Given the description of an element on the screen output the (x, y) to click on. 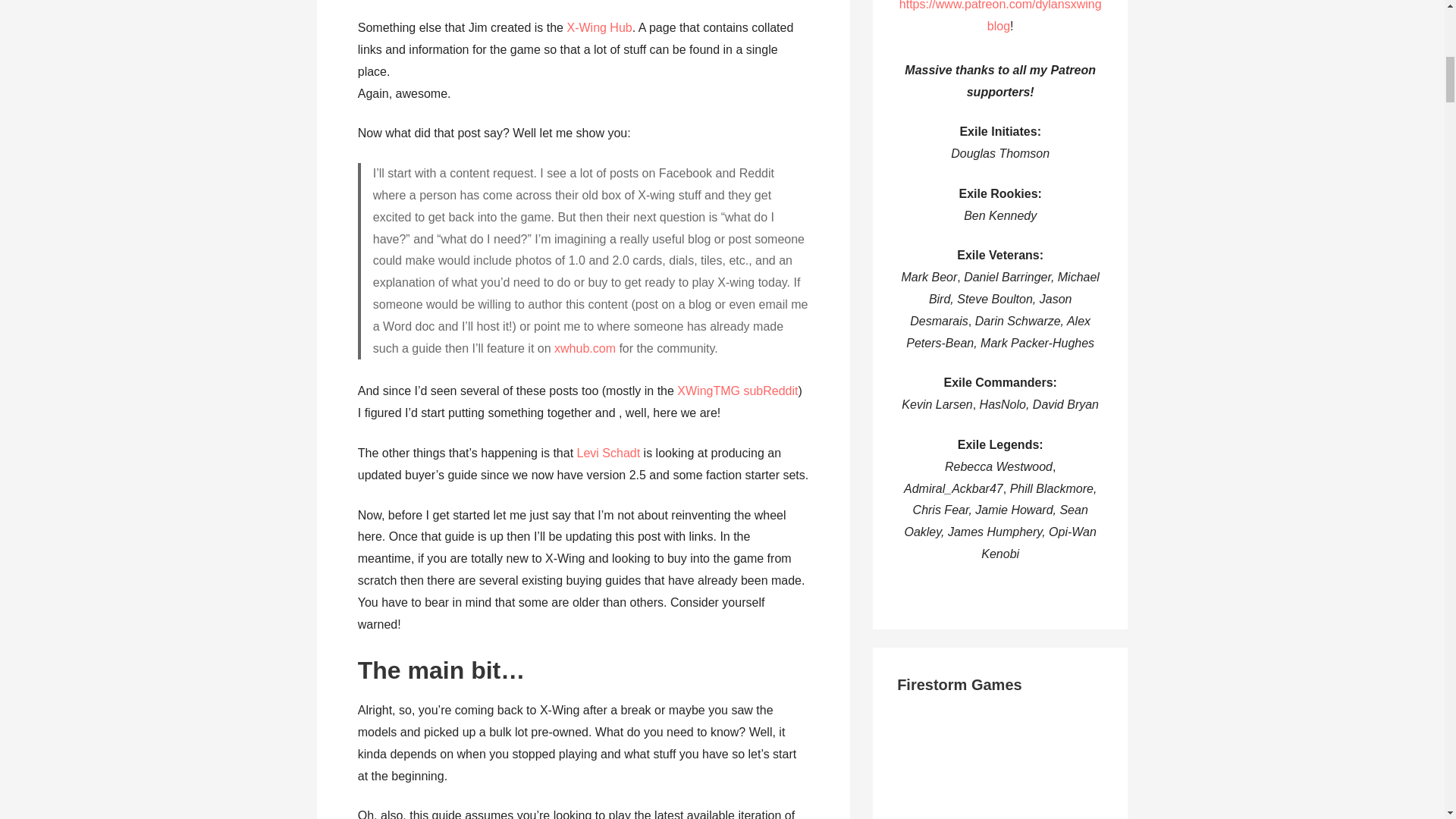
Levi Schadt (608, 452)
xwhub.com (584, 348)
X-Wing Hub (598, 27)
XWingTMG subReddit (737, 390)
